Given the description of an element on the screen output the (x, y) to click on. 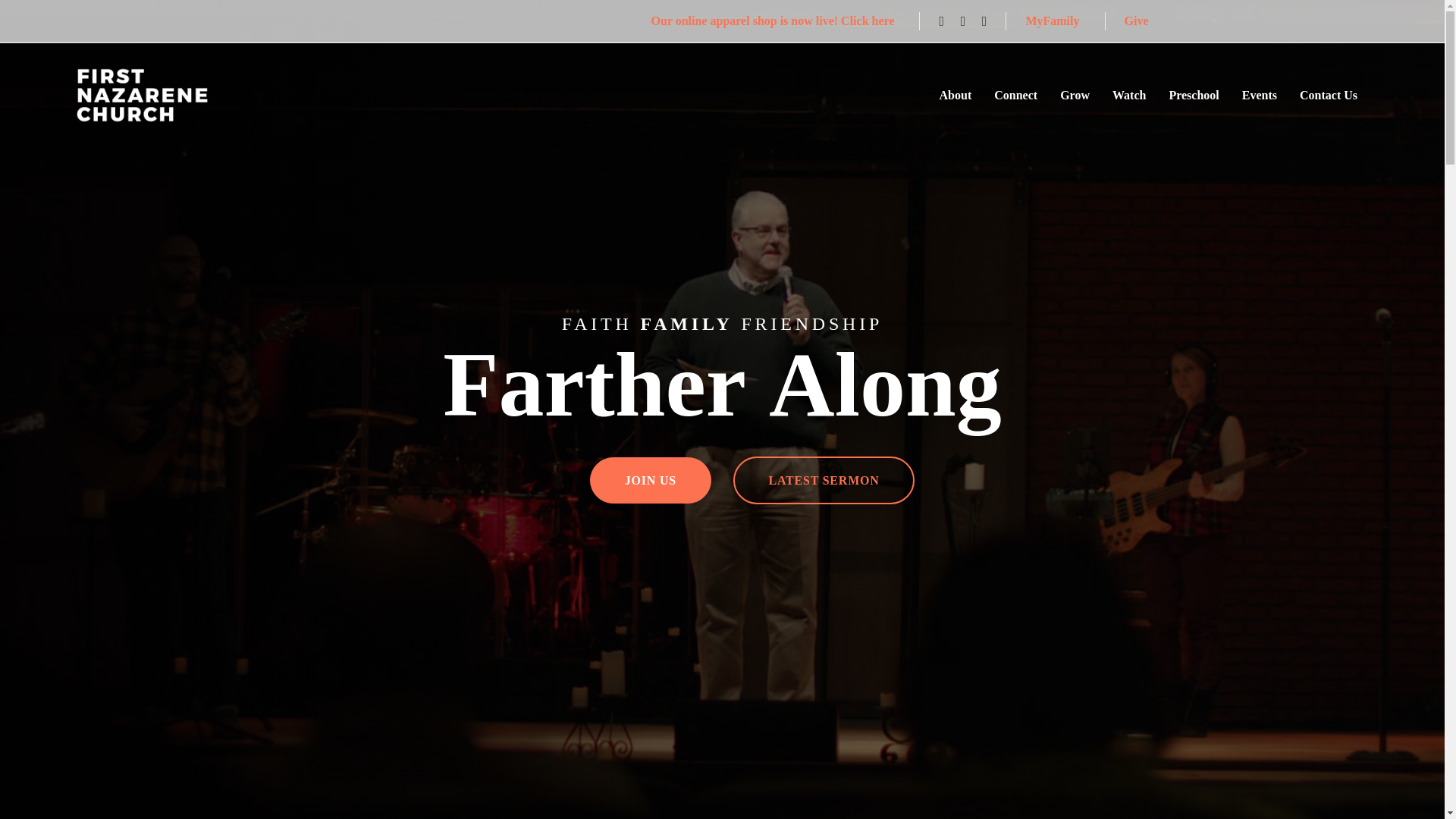
Give (1139, 21)
JOIN US (650, 480)
MyFamily (1054, 21)
Our online apparel shop is now live! Click here (775, 21)
LATEST SERMON (823, 480)
